Given the description of an element on the screen output the (x, y) to click on. 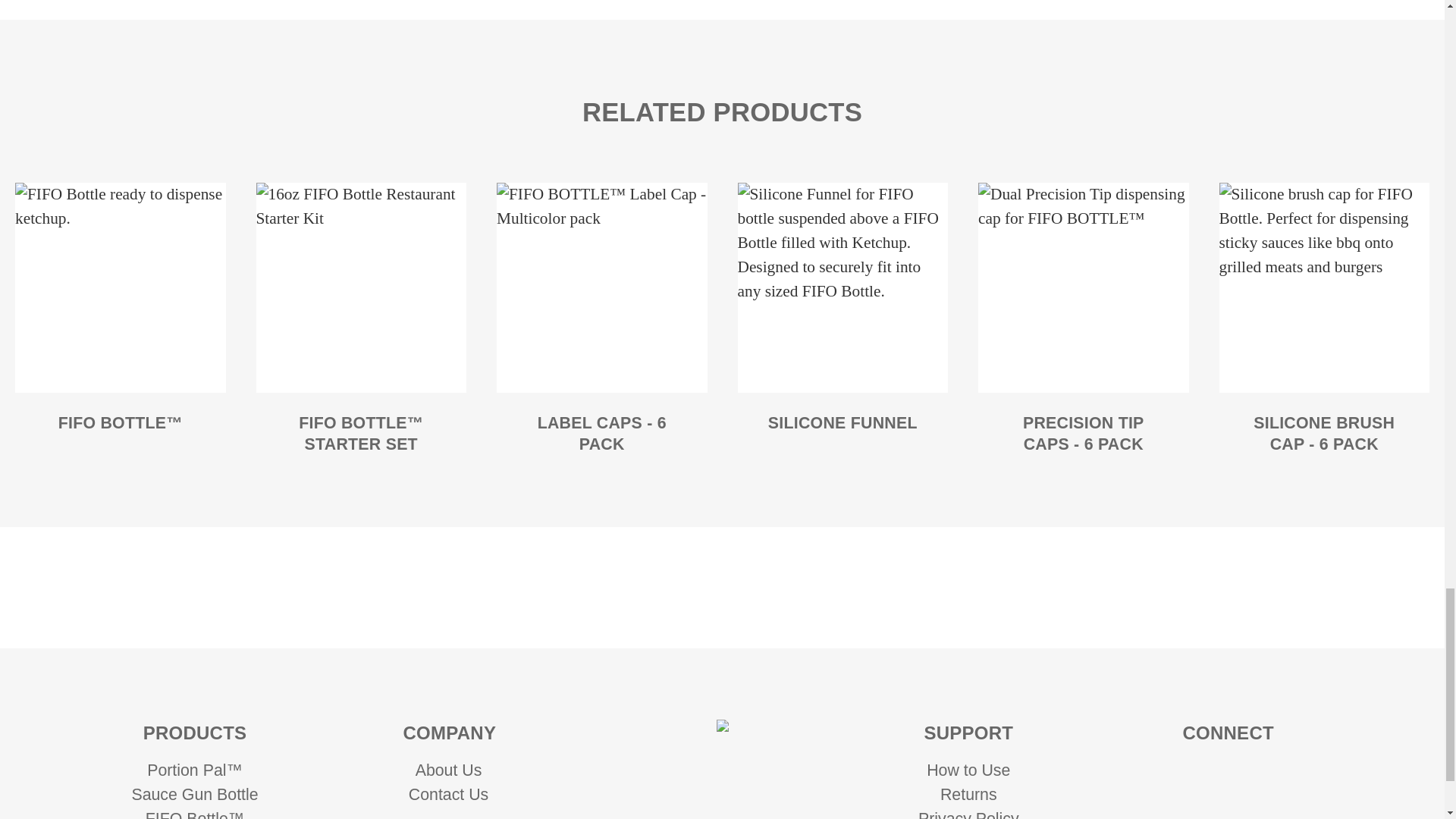
Youtube (1272, 776)
16oz FIFO Bottle Restaurant Starter Kit (361, 287)
Linkedin (1228, 776)
Instagram (1183, 776)
Facebook (1205, 808)
X (1250, 808)
FIFO Bottle ready to dispense ketchup. (119, 287)
